Given the description of an element on the screen output the (x, y) to click on. 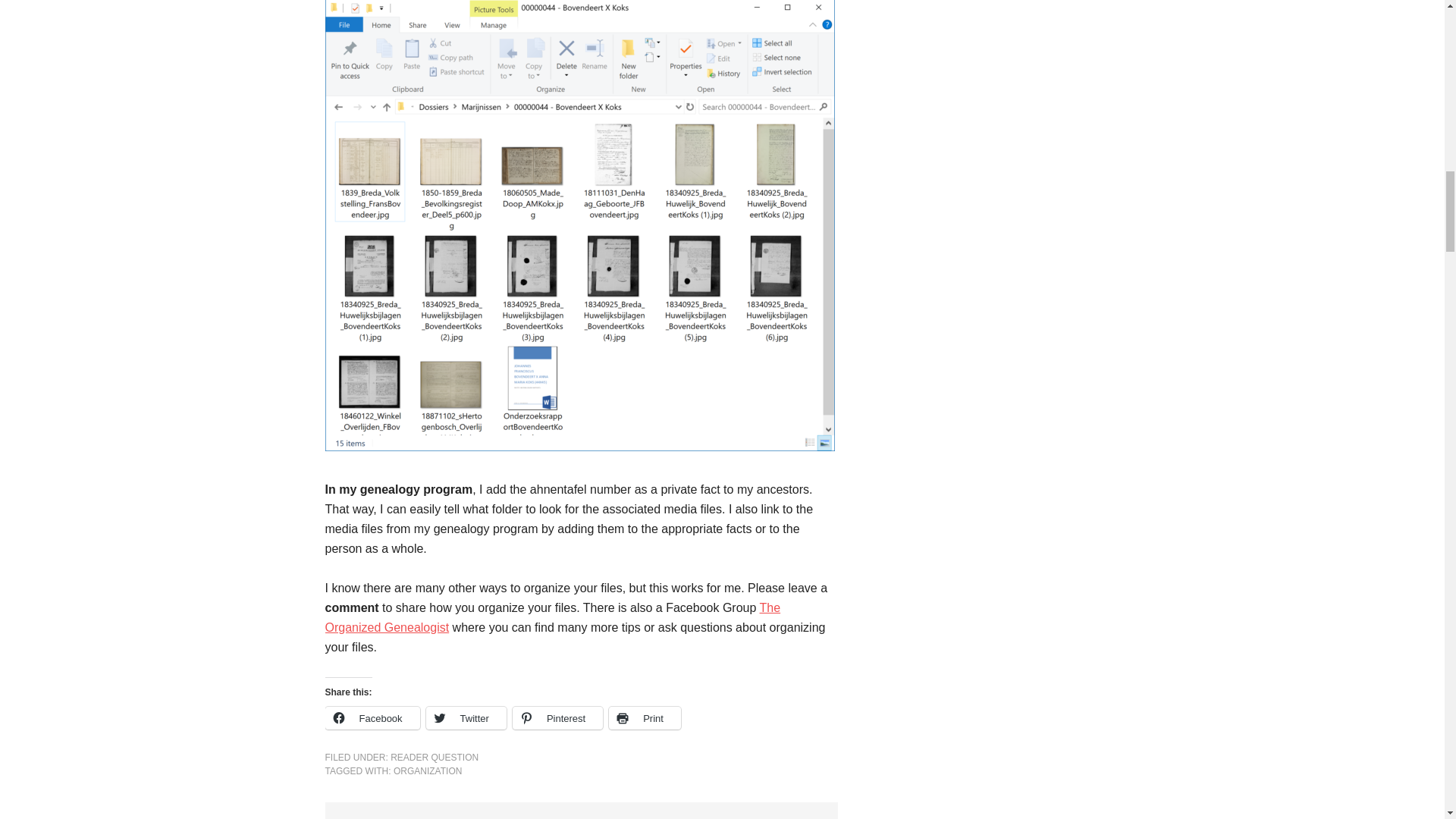
Click to share on Pinterest (557, 717)
Twitter (466, 717)
Click to share on Facebook (371, 717)
Print (644, 717)
The Organized Genealogist (552, 617)
Pinterest (557, 717)
Click to print (644, 717)
READER QUESTION (434, 757)
ORGANIZATION (427, 770)
Facebook (371, 717)
